Given the description of an element on the screen output the (x, y) to click on. 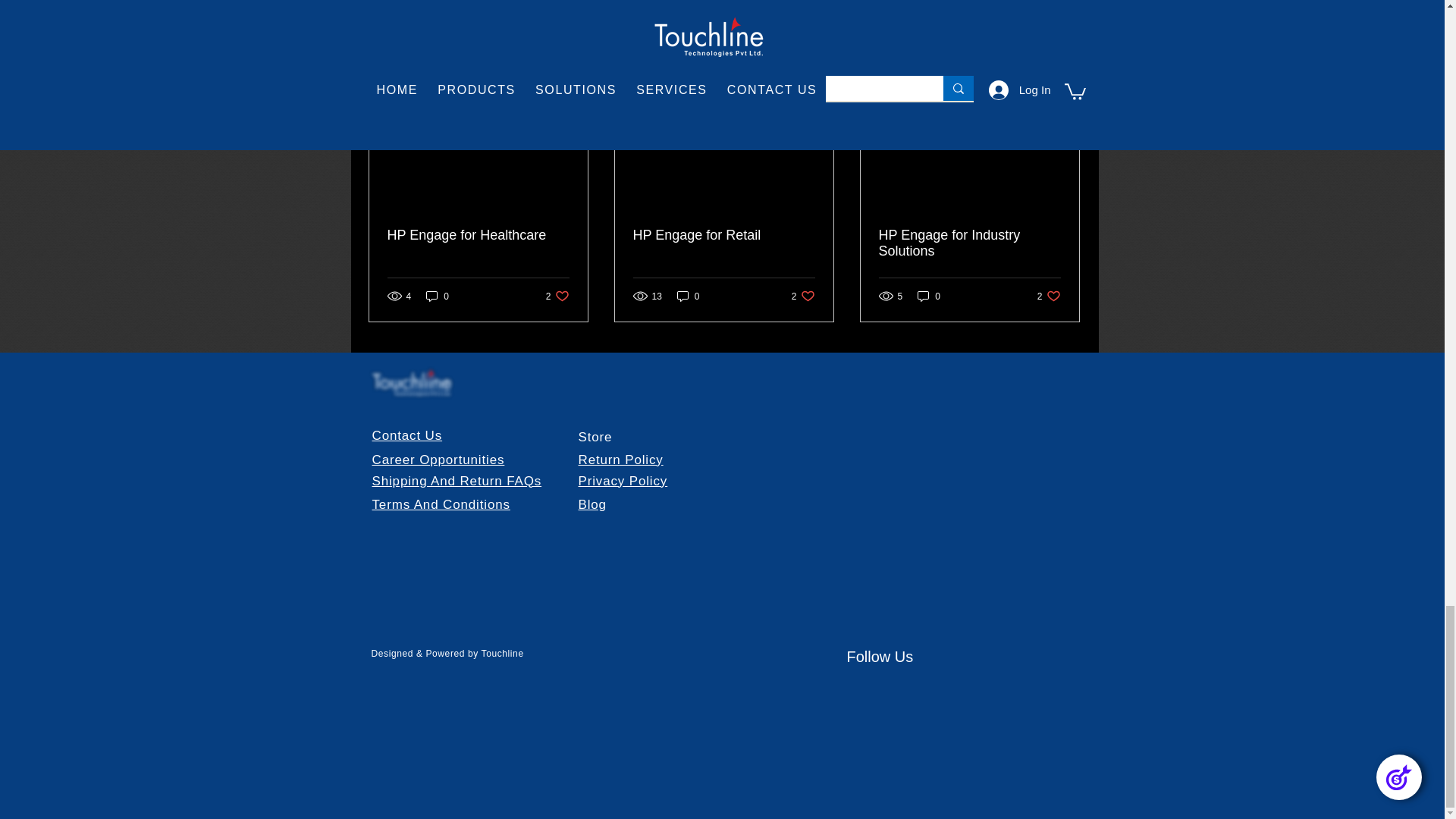
Touchline technologies Logo (411, 382)
